Given the description of an element on the screen output the (x, y) to click on. 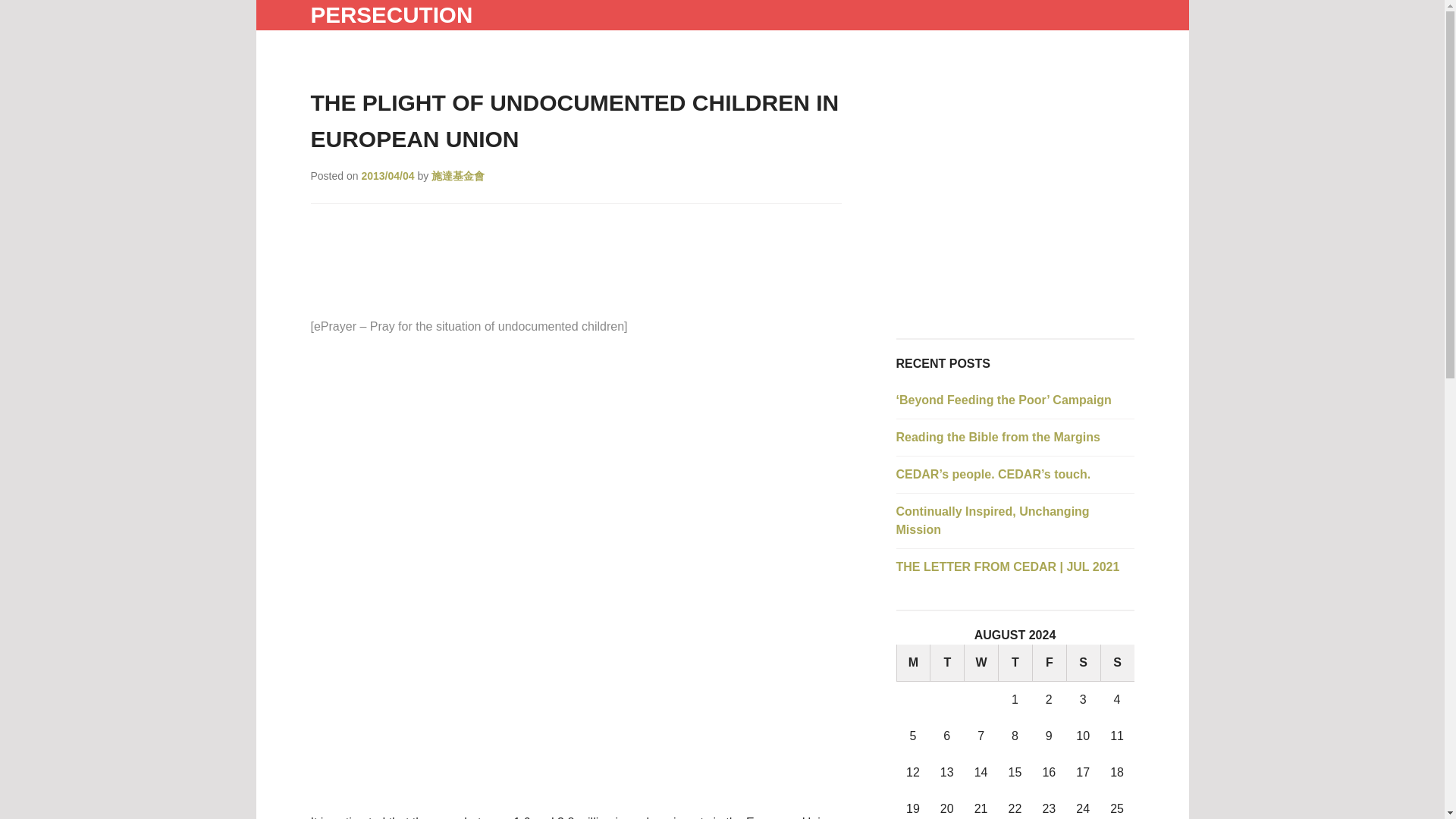
Thursday (1014, 662)
THE PLIGHT OF UNDOCUMENTED CHILDREN IN EUROPEAN UNION (575, 120)
Wednesday (980, 662)
Sunday (1117, 662)
Tuesday (946, 662)
Friday (1048, 662)
Saturday (1082, 662)
Monday (913, 662)
